Given the description of an element on the screen output the (x, y) to click on. 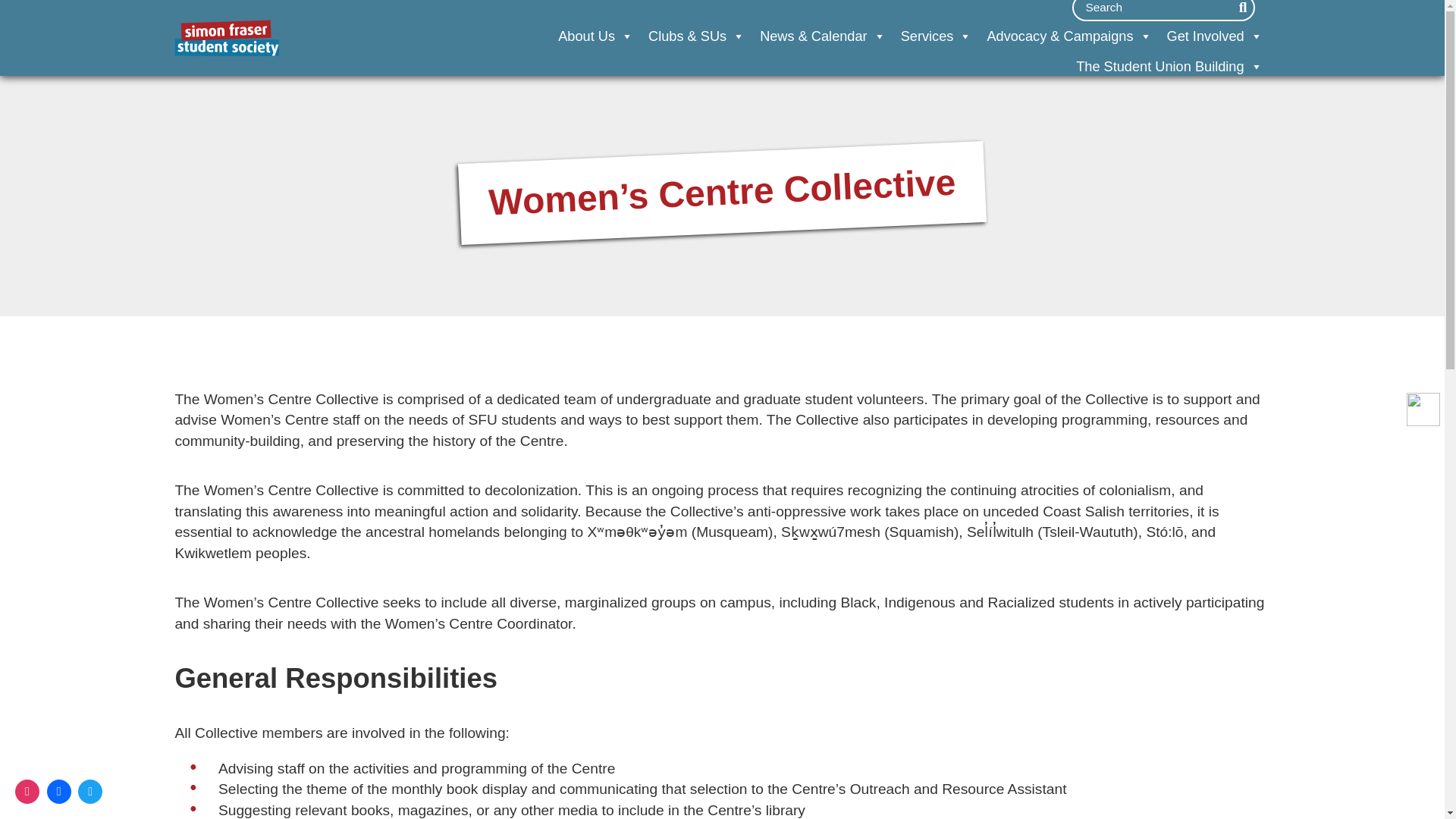
Services (936, 36)
About Us (595, 36)
